Given the description of an element on the screen output the (x, y) to click on. 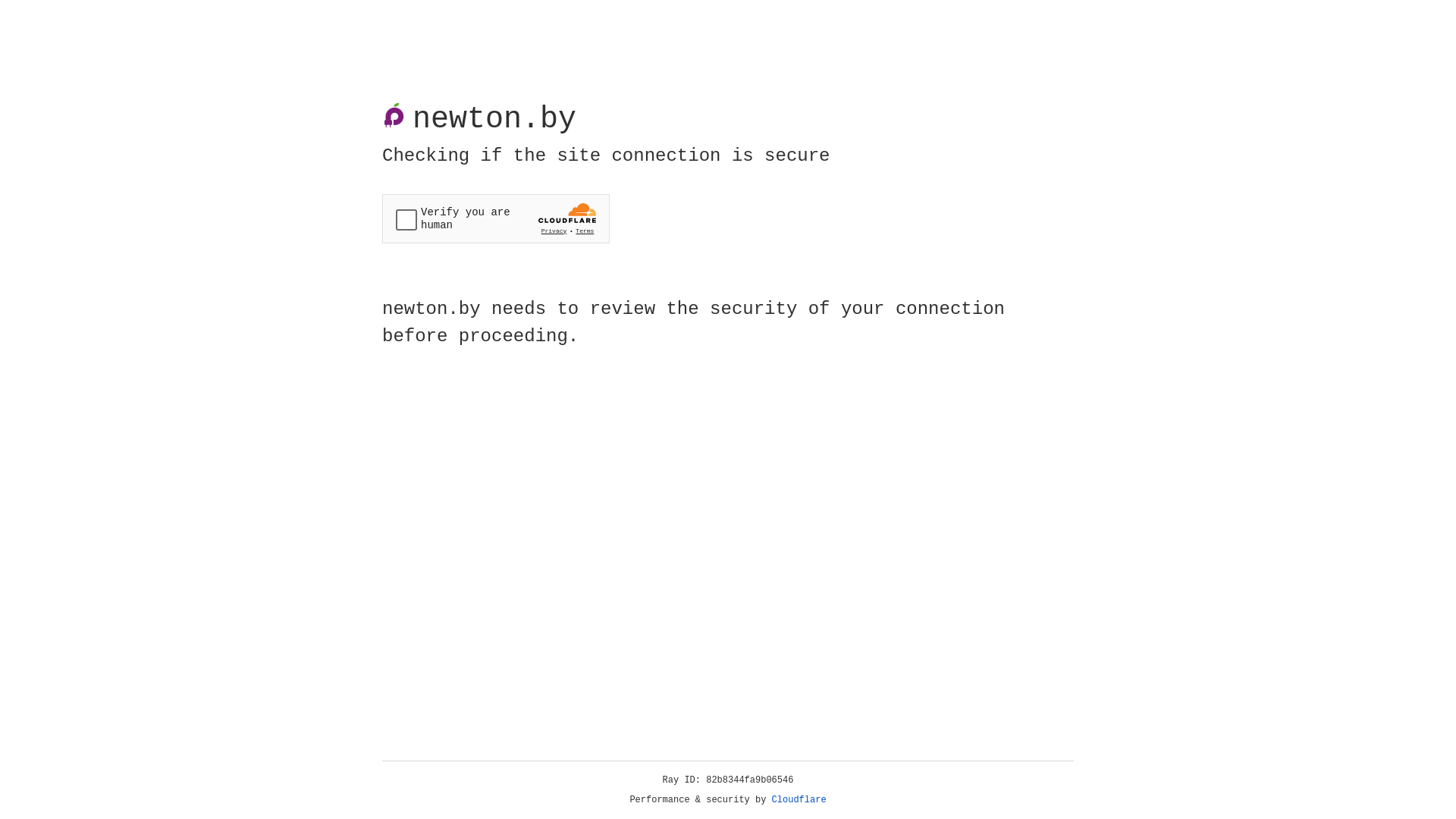
Widget containing a Cloudflare security challenge Element type: hover (495, 218)
Cloudflare Element type: text (798, 799)
